Given the description of an element on the screen output the (x, y) to click on. 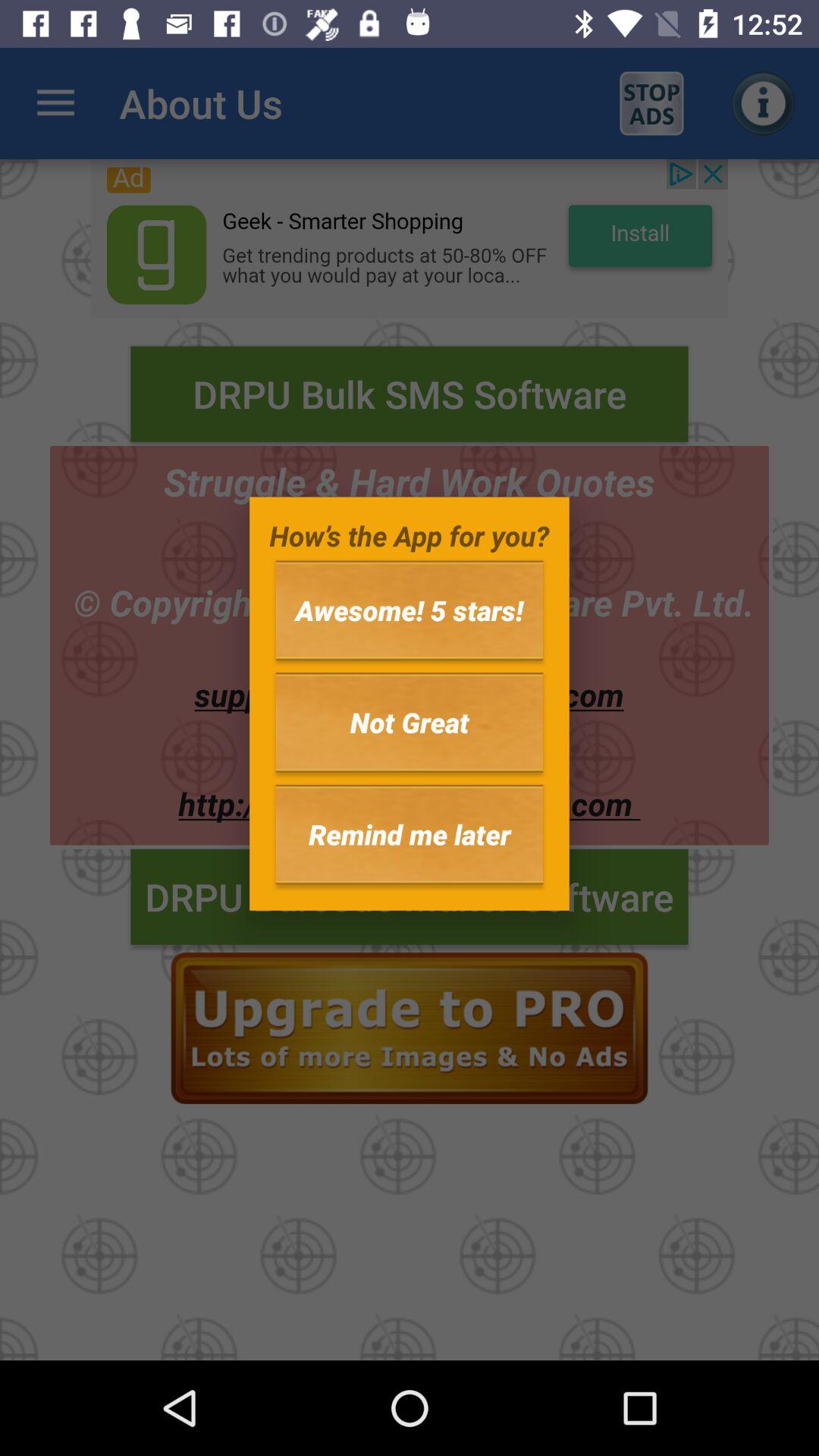
open the icon above the not great icon (409, 610)
